Given the description of an element on the screen output the (x, y) to click on. 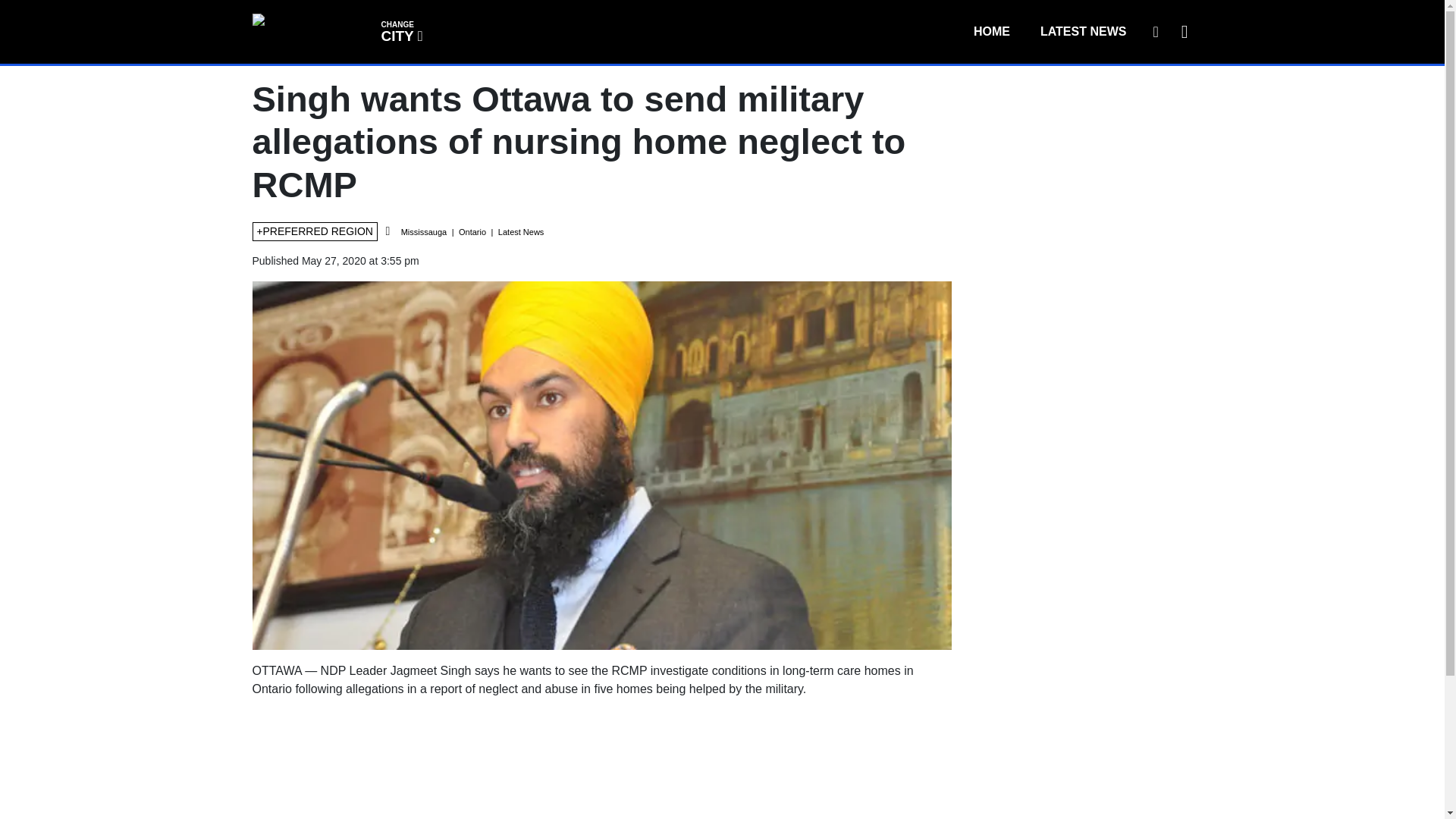
HOME (991, 31)
SIGN UP FOR OUR NEWSLETTER (1155, 31)
LATEST NEWS (400, 30)
